Given the description of an element on the screen output the (x, y) to click on. 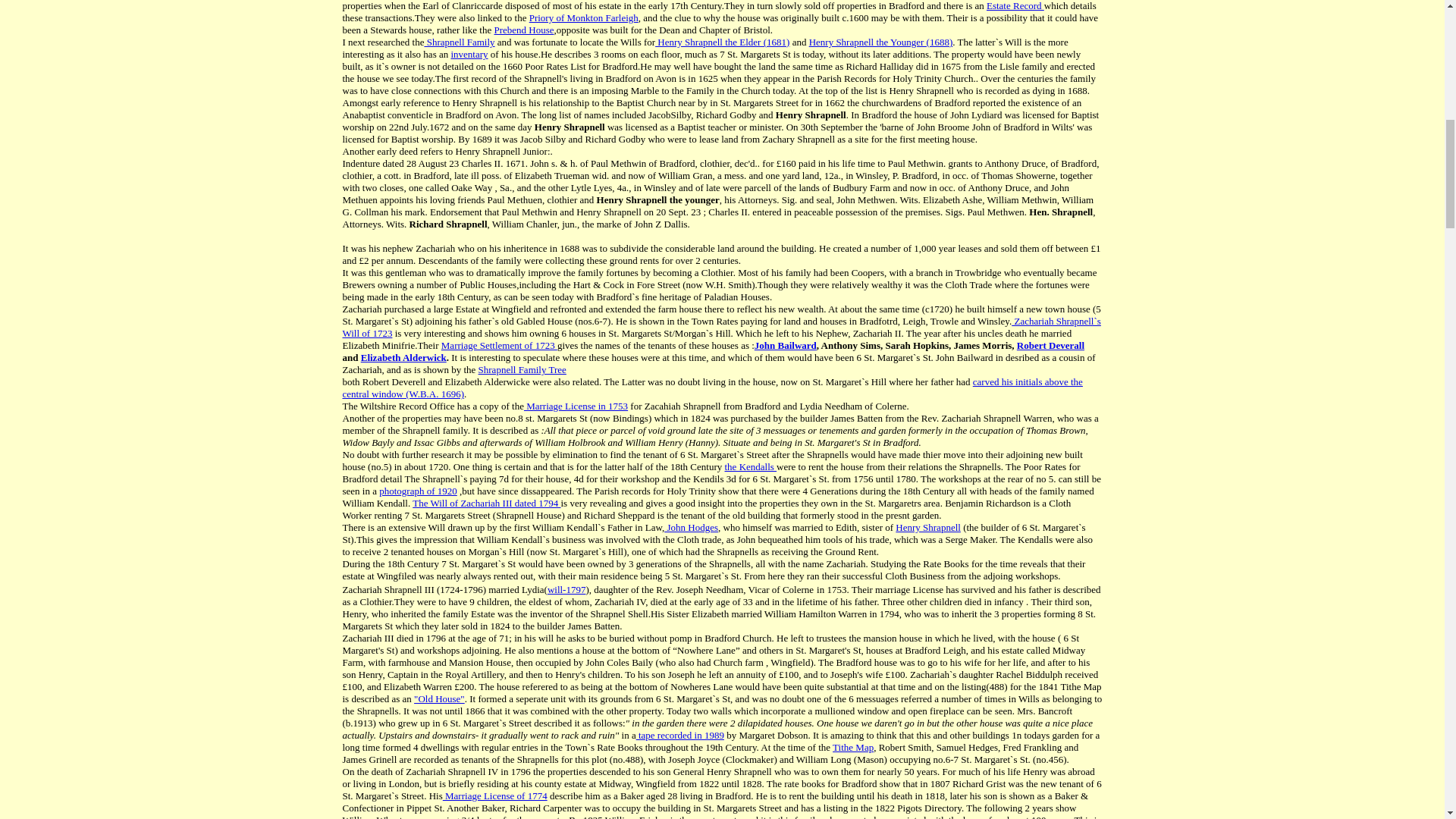
inventary (468, 53)
The Will of Zachariah III dated 1794 (486, 502)
Prebend House (523, 30)
Tithe Map (852, 747)
Robert Deverall (1050, 345)
Shrapnell Family (459, 41)
tape recorded in 1989 (679, 735)
the Kendalls (751, 466)
Estate Record (1015, 5)
Marriage License in 1753 (575, 405)
photograph of 1920 (417, 490)
John Hodges (690, 527)
Marriage License of 1774 (494, 795)
Elizabeth Alderwick (403, 357)
John Bailward (785, 345)
